Given the description of an element on the screen output the (x, y) to click on. 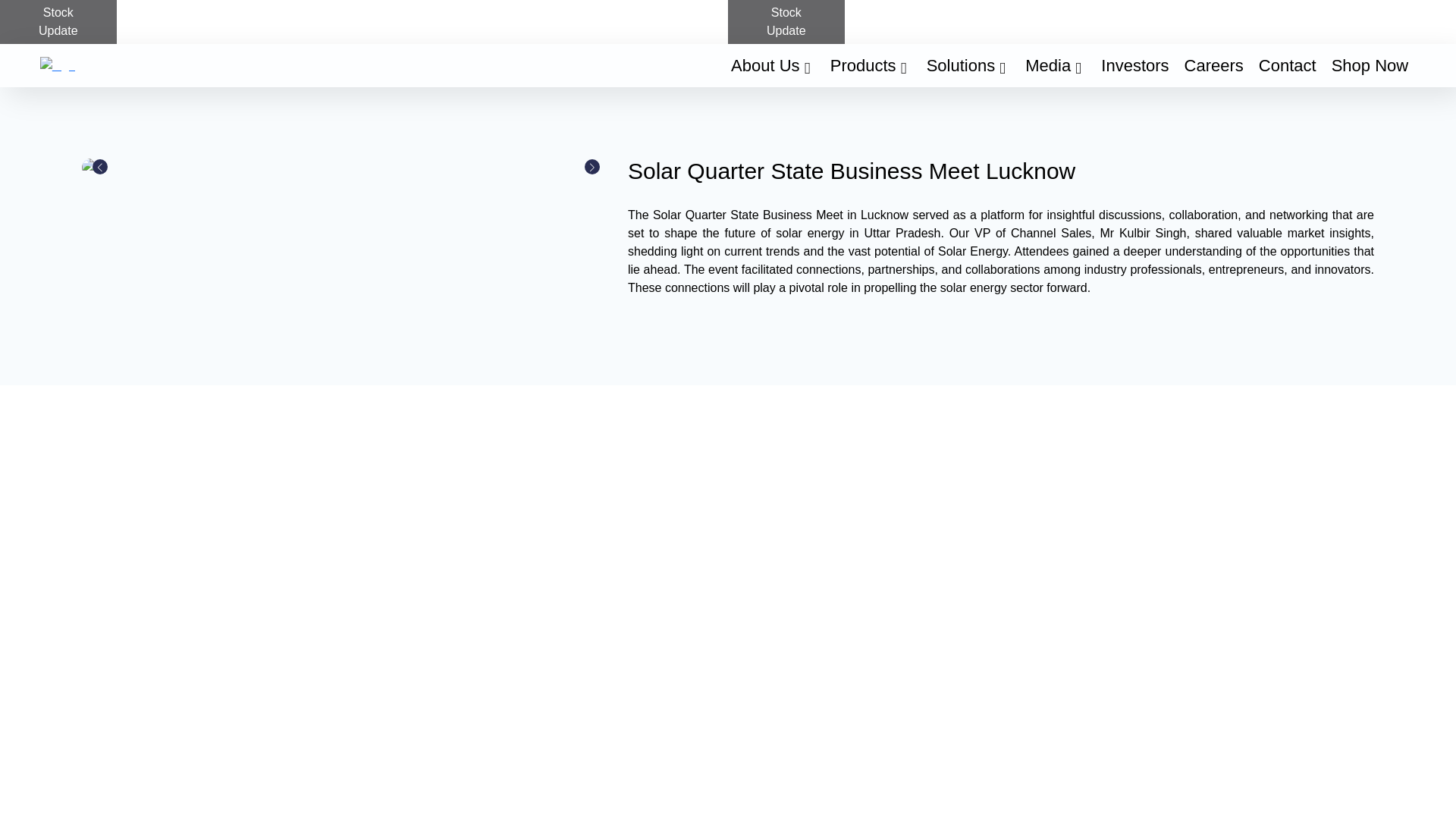
Products (870, 65)
Solutions (967, 65)
Media (1055, 65)
About Us (772, 65)
